Given the description of an element on the screen output the (x, y) to click on. 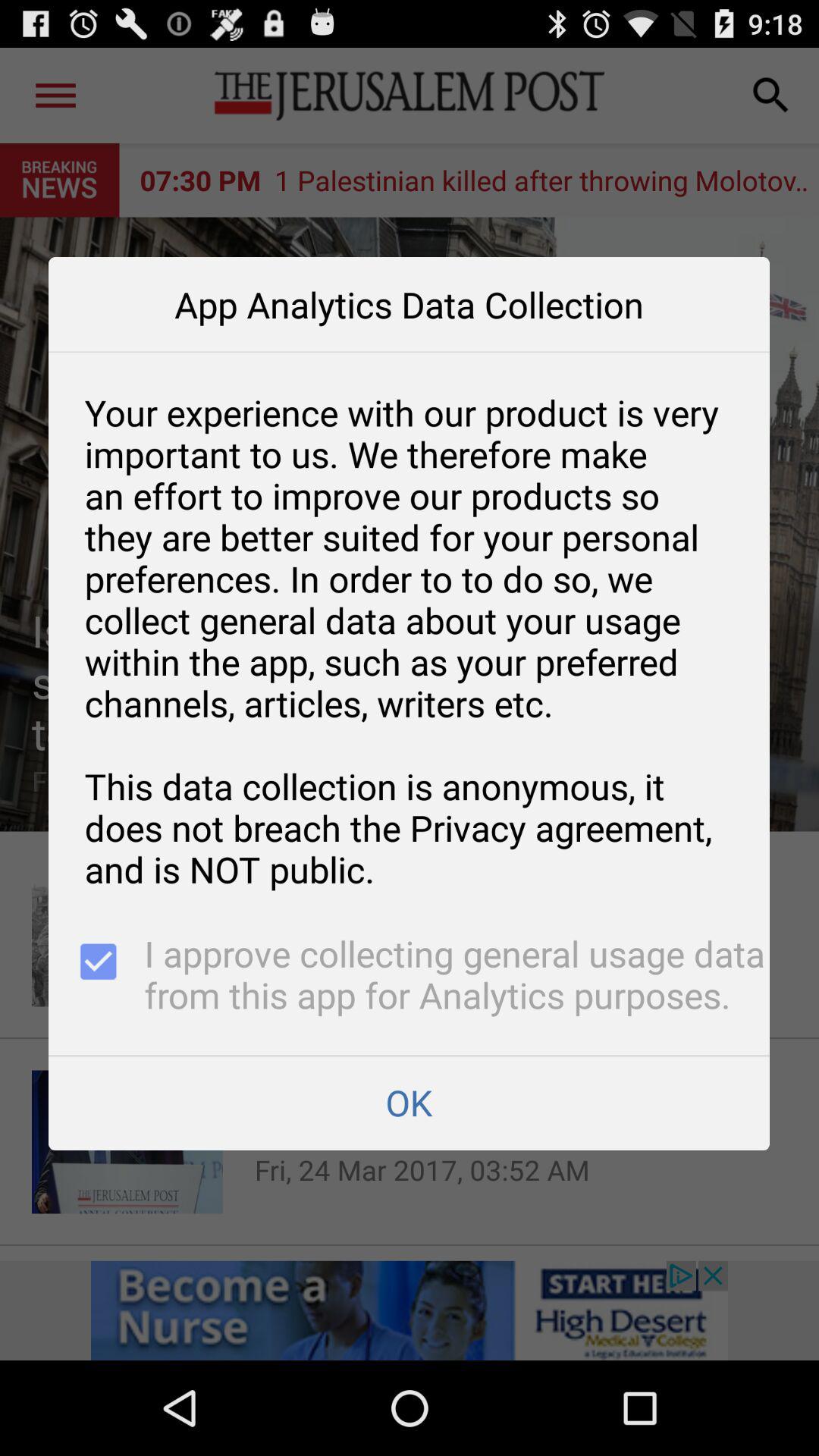
click the app below i approve collecting (408, 1102)
